Given the description of an element on the screen output the (x, y) to click on. 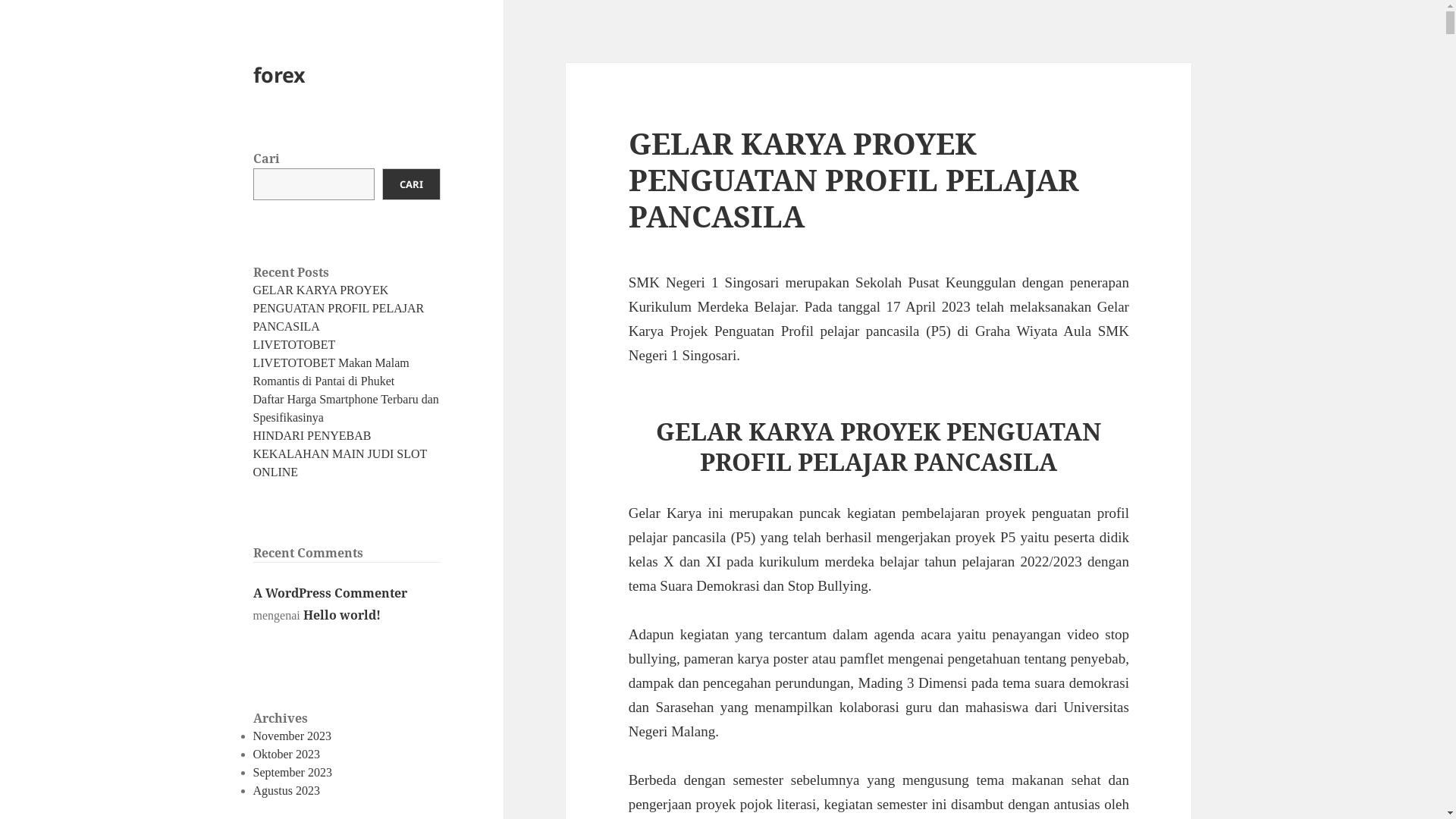
CARI Element type: text (411, 184)
September 2023 Element type: text (292, 771)
A WordPress Commenter Element type: text (330, 592)
GELAR KARYA PROYEK PENGUATAN PROFIL PELAJAR PANCASILA Element type: text (853, 178)
HINDARI PENYEBAB KEKALAHAN MAIN JUDI SLOT ONLINE Element type: text (339, 453)
Oktober 2023 Element type: text (286, 753)
Hello world! Element type: text (341, 614)
Agustus 2023 Element type: text (286, 790)
November 2023 Element type: text (292, 735)
GELAR KARYA PROYEK PENGUATAN PROFIL PELAJAR PANCASILA Element type: text (338, 307)
forex Element type: text (279, 74)
LIVETOTOBET Makan Malam Romantis di Pantai di Phuket Element type: text (331, 371)
Daftar Harga Smartphone Terbaru dan Spesifikasinya Element type: text (346, 407)
LIVETOTOBET Element type: text (294, 344)
